Given the description of an element on the screen output the (x, y) to click on. 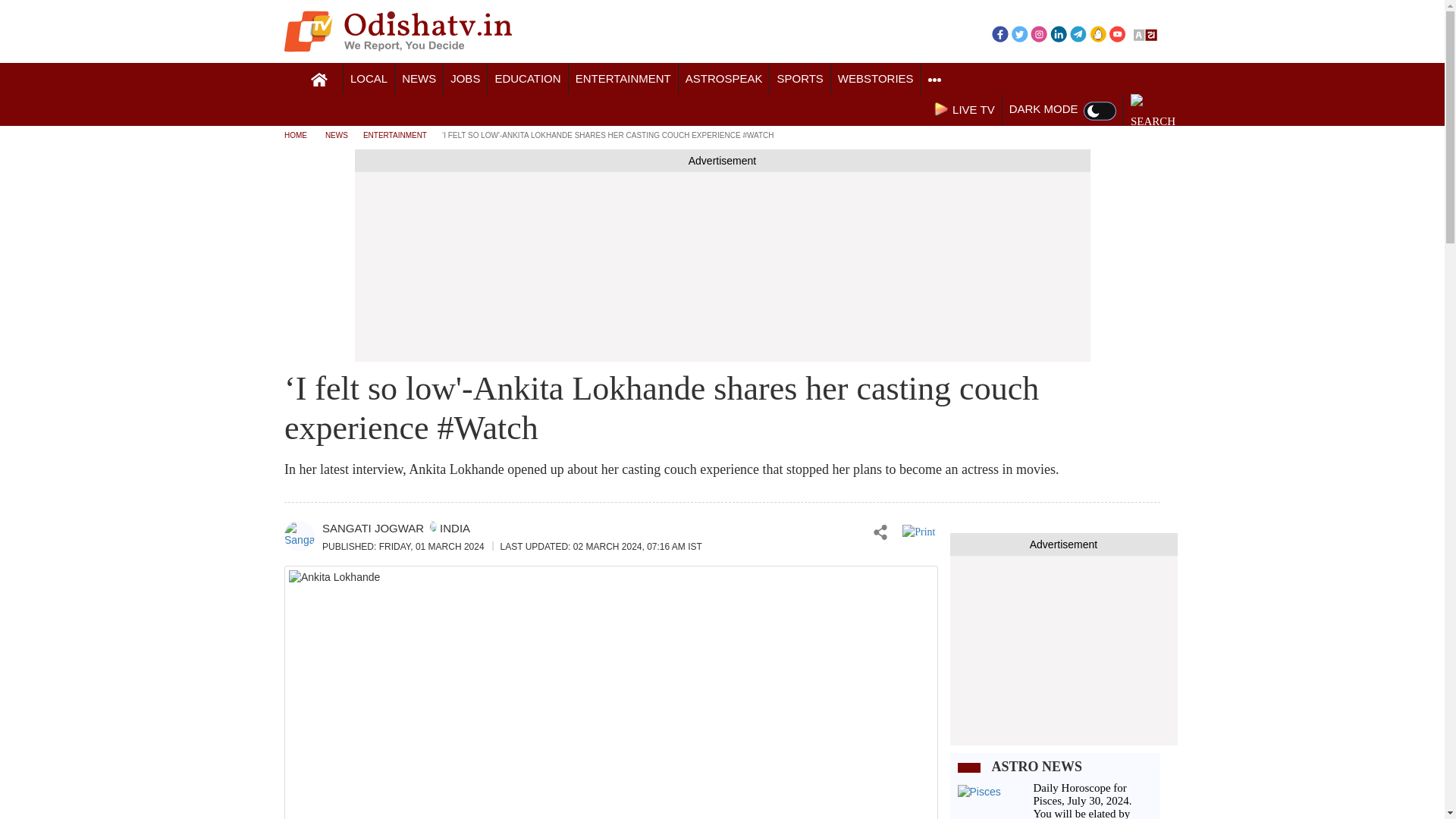
Facebook (1000, 33)
Odisha (368, 78)
OdishaTV (397, 31)
NEWS (418, 78)
Twitter (1019, 33)
Koo (1097, 33)
Telegram (1078, 33)
LOCAL (368, 78)
Instagram (1038, 33)
Home Icon (319, 79)
News (418, 78)
JOBS (465, 78)
LinkedIn (1058, 33)
EDUCATION (527, 78)
ENTERTAINMENT (623, 78)
